Given the description of an element on the screen output the (x, y) to click on. 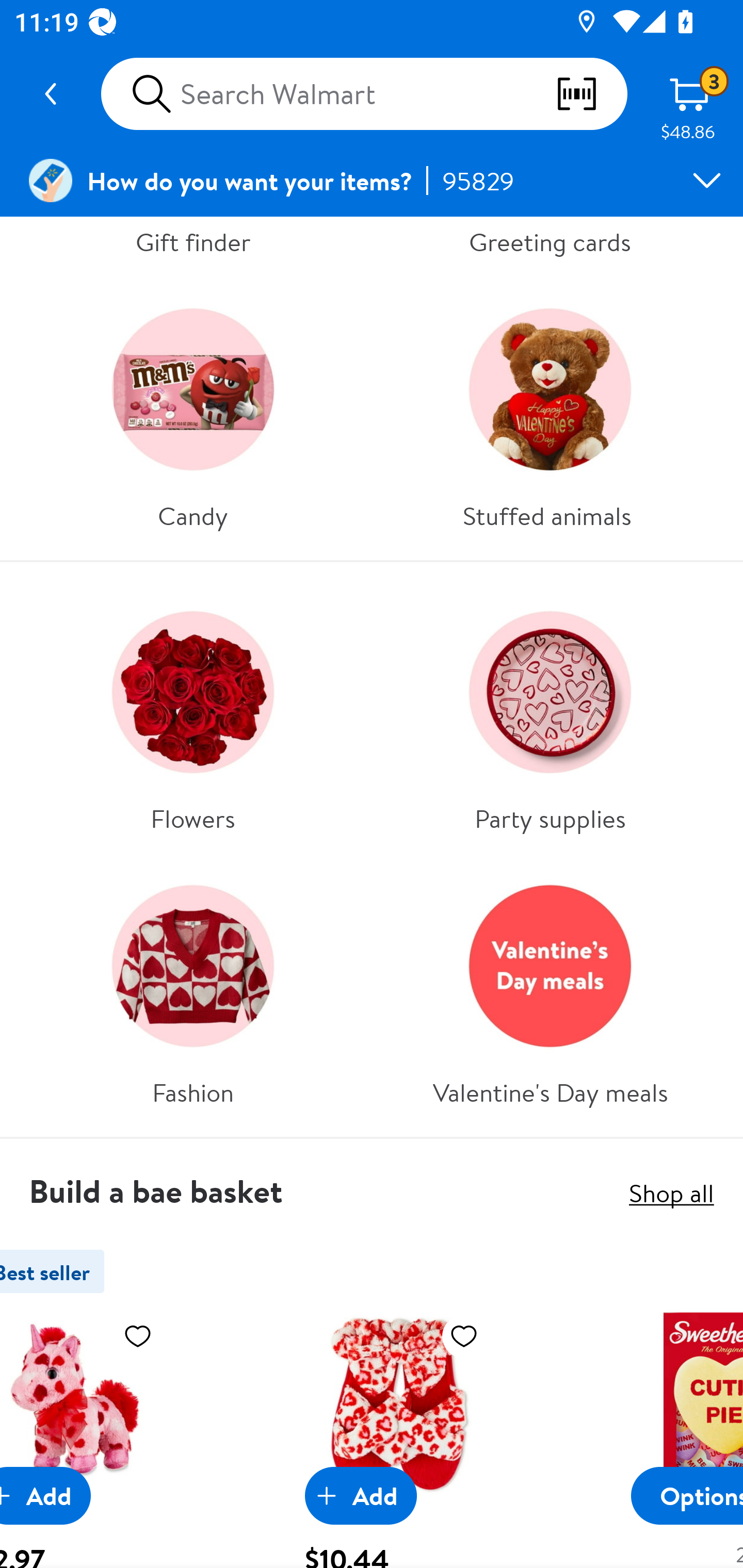
Navigate up (50, 93)
Search Walmart scan barcodes qr codes and more (364, 94)
scan barcodes qr codes and more (591, 94)
Candy (192, 410)
Stuffed animals  (549, 410)
Flowers (192, 713)
Party supplies (549, 713)
Fashion (192, 987)
Valentine's Day meals (549, 987)
Shop all Shop all,Build a bae basket (671, 1193)
